Given the description of an element on the screen output the (x, y) to click on. 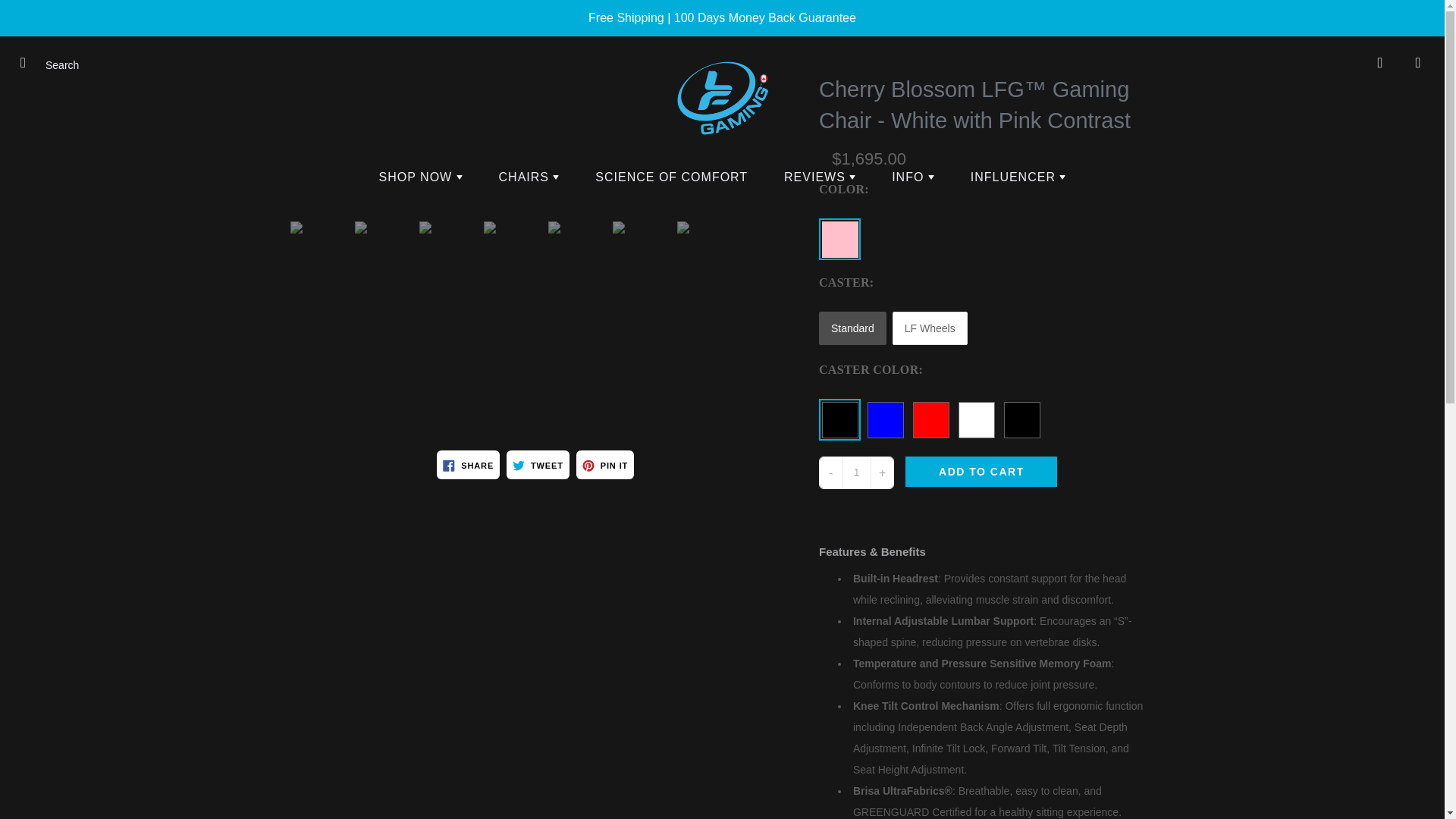
CHAIRS (528, 176)
1 (855, 472)
You have 0 items in your cart (1417, 62)
REVIEWS (819, 176)
INFO (912, 176)
SHOP NOW (420, 176)
My account (1379, 62)
SCIENCE OF COMFORT (671, 176)
Search (28, 62)
